Given the description of an element on the screen output the (x, y) to click on. 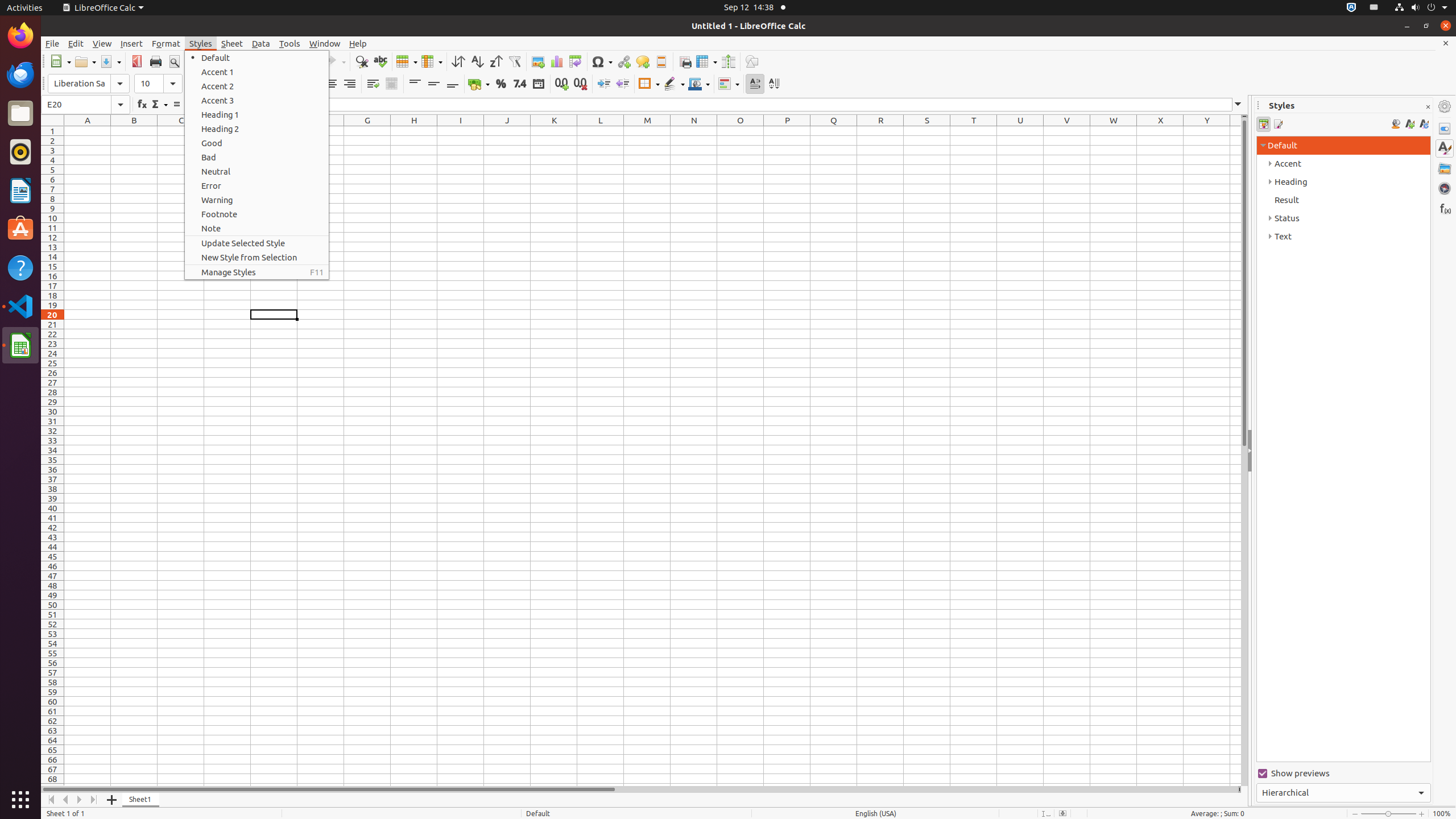
Files Element type: push-button (20, 113)
Align Right Element type: push-button (349, 83)
Move To Home Element type: push-button (51, 799)
Close Sidebar Deck Element type: push-button (1427, 106)
Date Element type: push-button (537, 83)
